Given the description of an element on the screen output the (x, y) to click on. 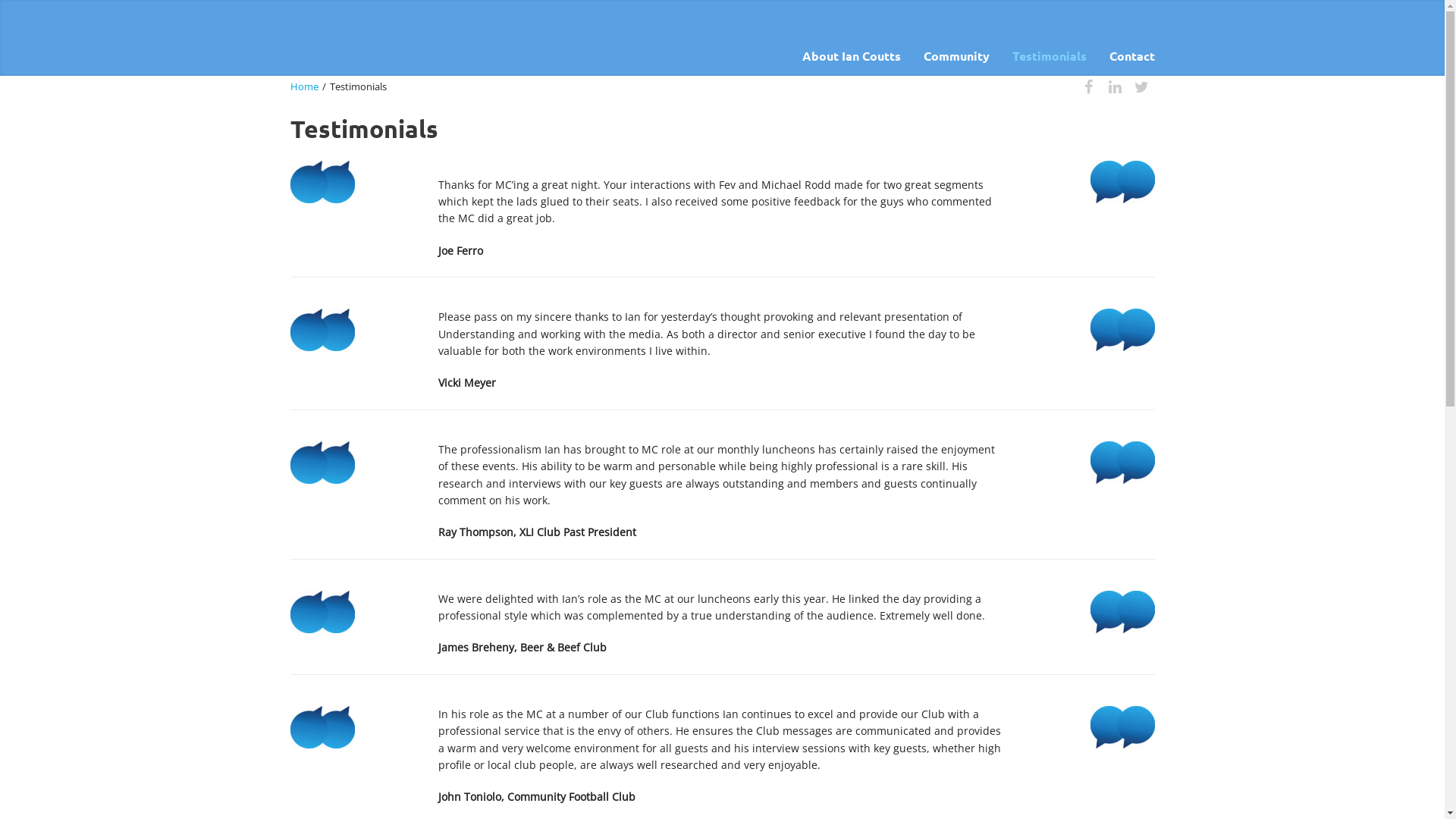
Community Element type: text (955, 56)
About Ian Coutts Element type: text (850, 56)
Testimonials Element type: text (1049, 56)
ICC_quote marks2 Element type: hover (1122, 727)
Facebook Element type: hover (1088, 86)
ICC_quote marks1 Element type: hover (321, 462)
LinkedIn Element type: hover (1114, 86)
Contact Element type: text (1126, 56)
Twitter Element type: hover (1141, 86)
Home Element type: text (303, 86)
ICC_quote marks2 Element type: hover (1122, 462)
ICC_quote marks2 Element type: hover (1122, 181)
ICC_quote marks1 Element type: hover (321, 181)
ICC_quote marks2 Element type: hover (1122, 611)
ICC_quote marks2 Element type: hover (1122, 329)
ICC_quote marks1 Element type: hover (321, 727)
ICC_quote marks1 Element type: hover (321, 611)
ICC_quote marks1 Element type: hover (321, 329)
